Given the description of an element on the screen output the (x, y) to click on. 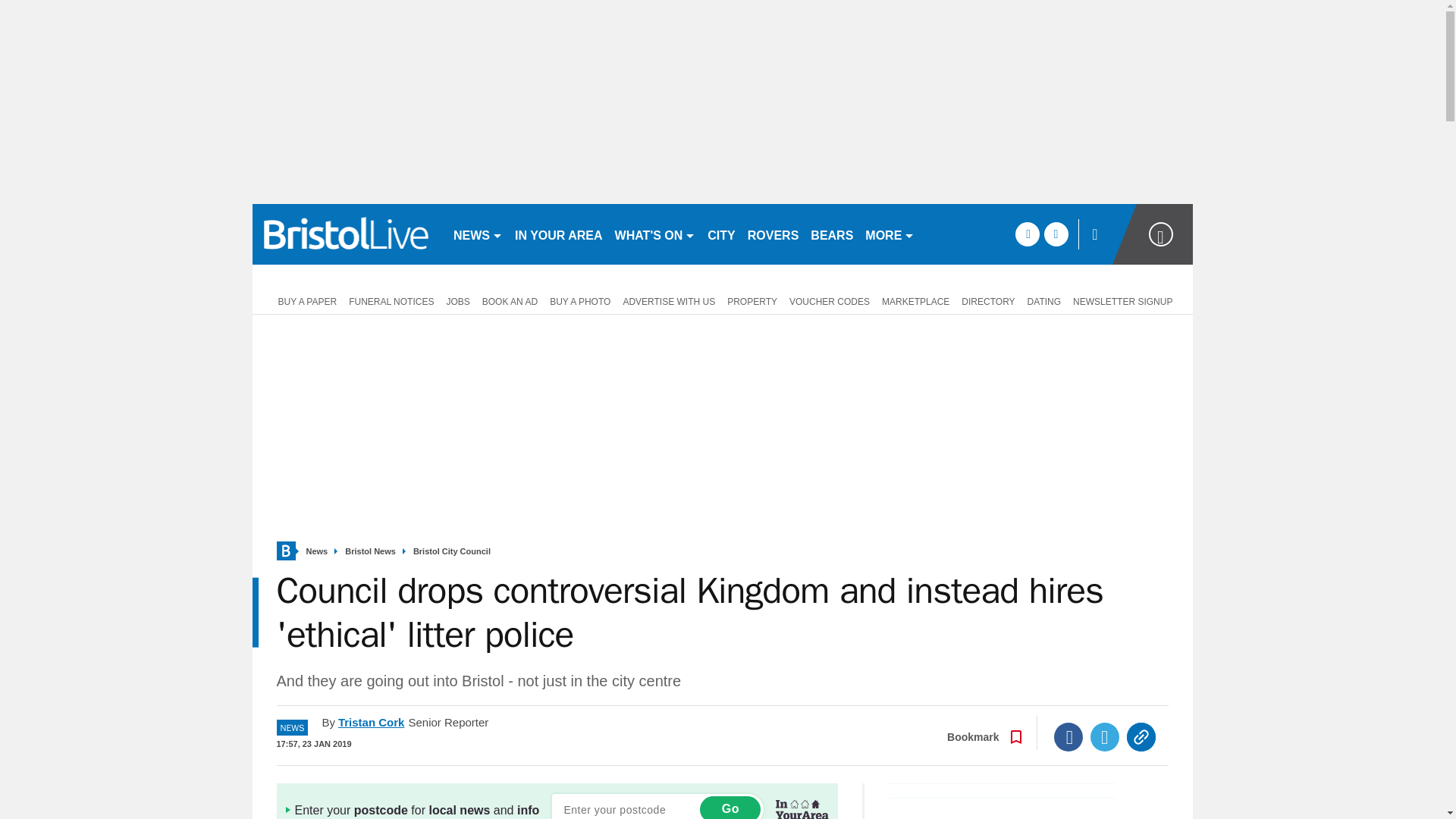
Twitter (1104, 736)
BEARS (832, 233)
ROVERS (773, 233)
Facebook (1068, 736)
bristolpost (345, 233)
NEWS (477, 233)
MORE (889, 233)
IN YOUR AREA (558, 233)
WHAT'S ON (654, 233)
facebook (1026, 233)
Go (730, 807)
twitter (1055, 233)
